Given the description of an element on the screen output the (x, y) to click on. 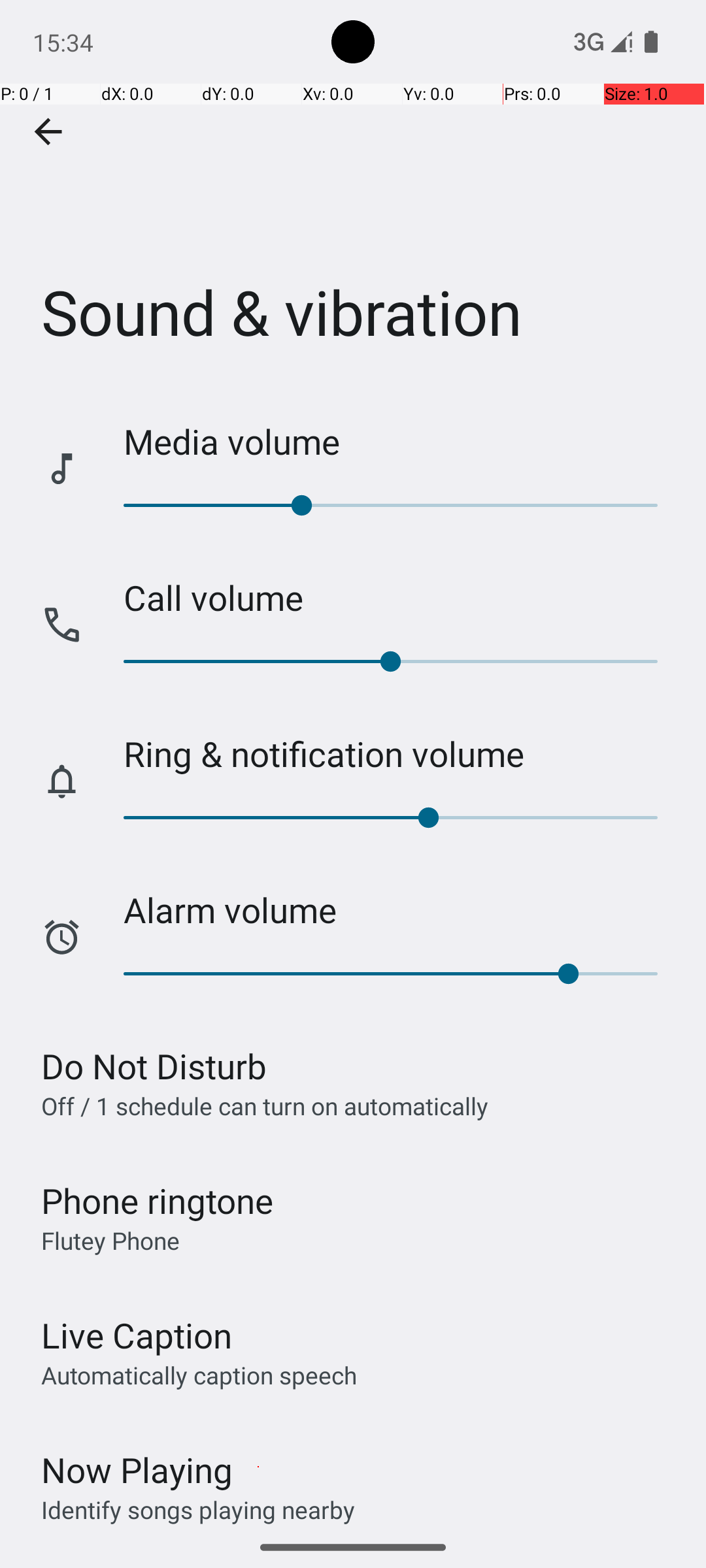
Off / 1 schedule can turn on automatically Element type: android.widget.TextView (264, 1105)
Now Playing Element type: android.widget.TextView (136, 1469)
Identify songs playing nearby Element type: android.widget.TextView (197, 1509)
